Given the description of an element on the screen output the (x, y) to click on. 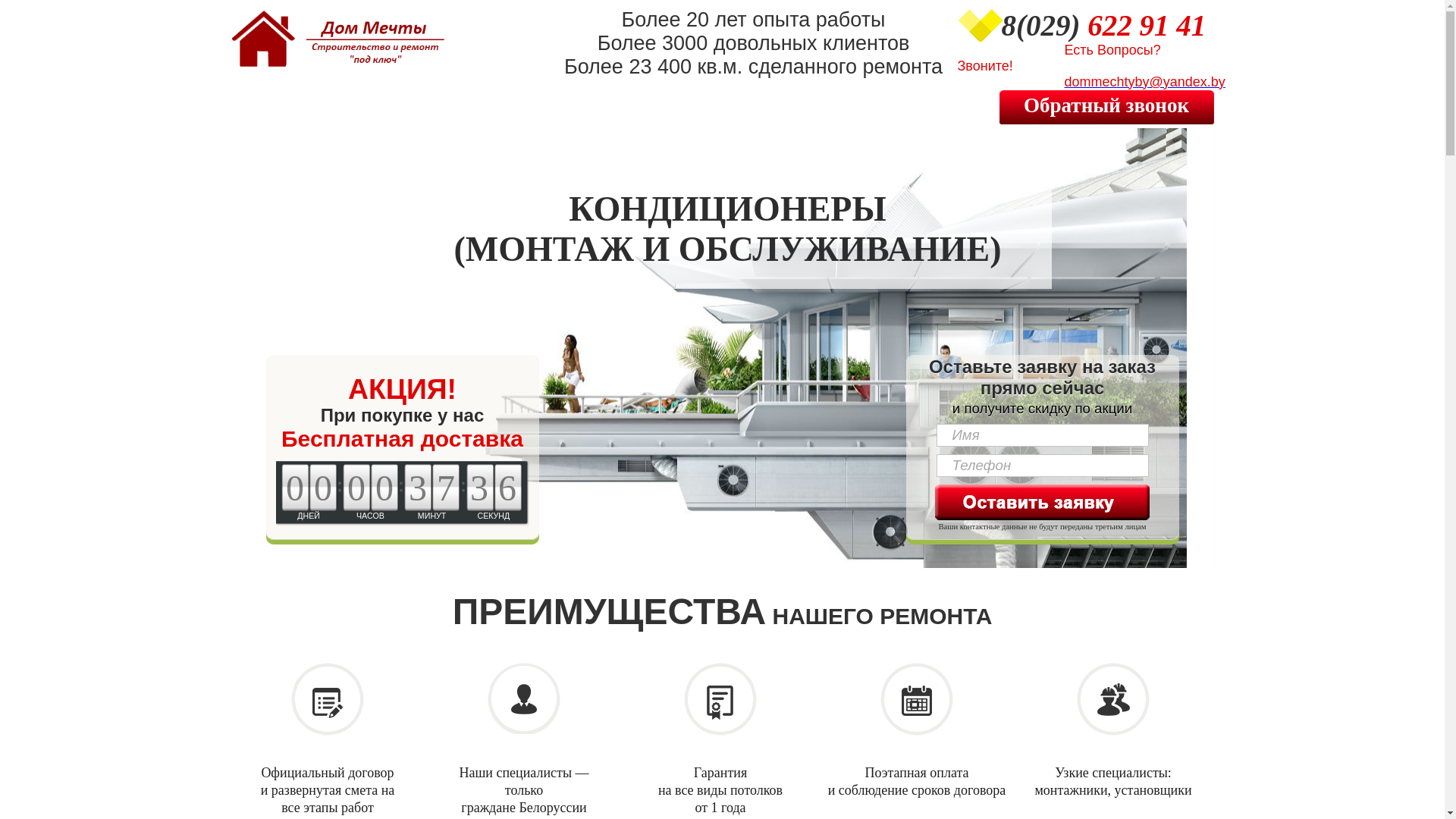
dommechtyby@yandex.by Element type: text (1090, 82)
